Given the description of an element on the screen output the (x, y) to click on. 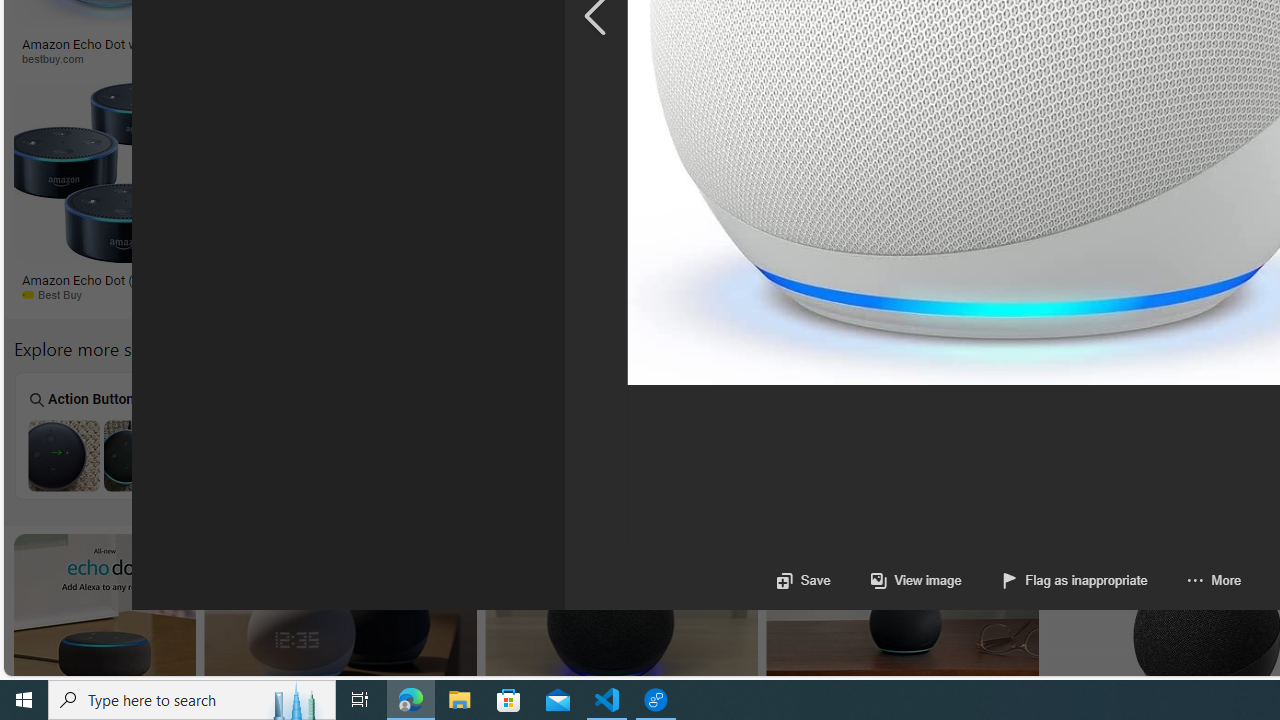
What Inside a Amazon Echo Dot What Inside (461, 435)
No Background (281, 435)
Amazon Echo Dot 3rd Generation Speaker (1181, 455)
eftm.com (449, 57)
Amazon Echo Dot Owl and Nest Owl Nest (1002, 435)
eftm.com (530, 58)
INQUIRER.net (953, 57)
